Given the description of an element on the screen output the (x, y) to click on. 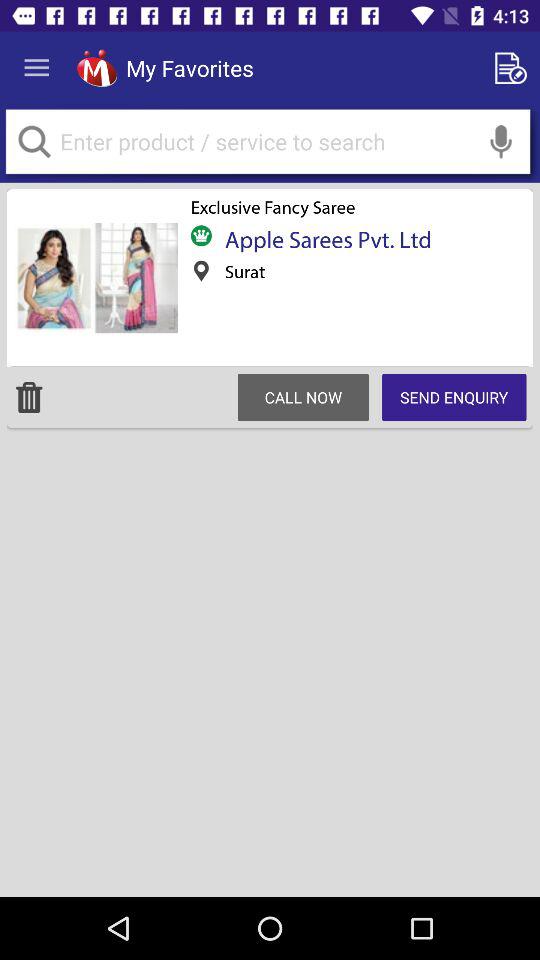
jump to the apple sarees pvt (321, 239)
